Given the description of an element on the screen output the (x, y) to click on. 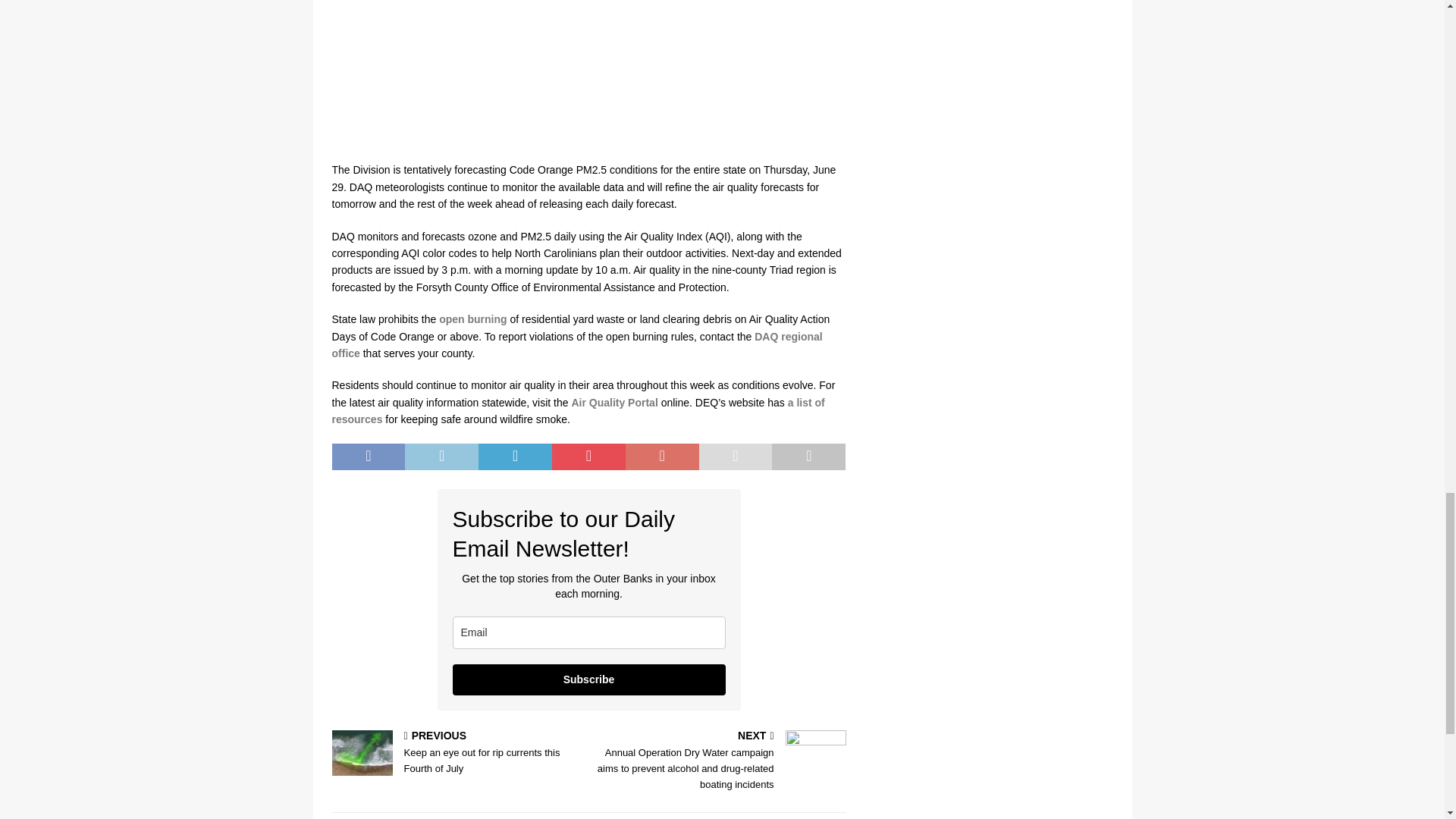
DAQ regional office (576, 344)
Air Quality Portal (614, 402)
a list of resources (578, 410)
open burning (472, 318)
